Given the description of an element on the screen output the (x, y) to click on. 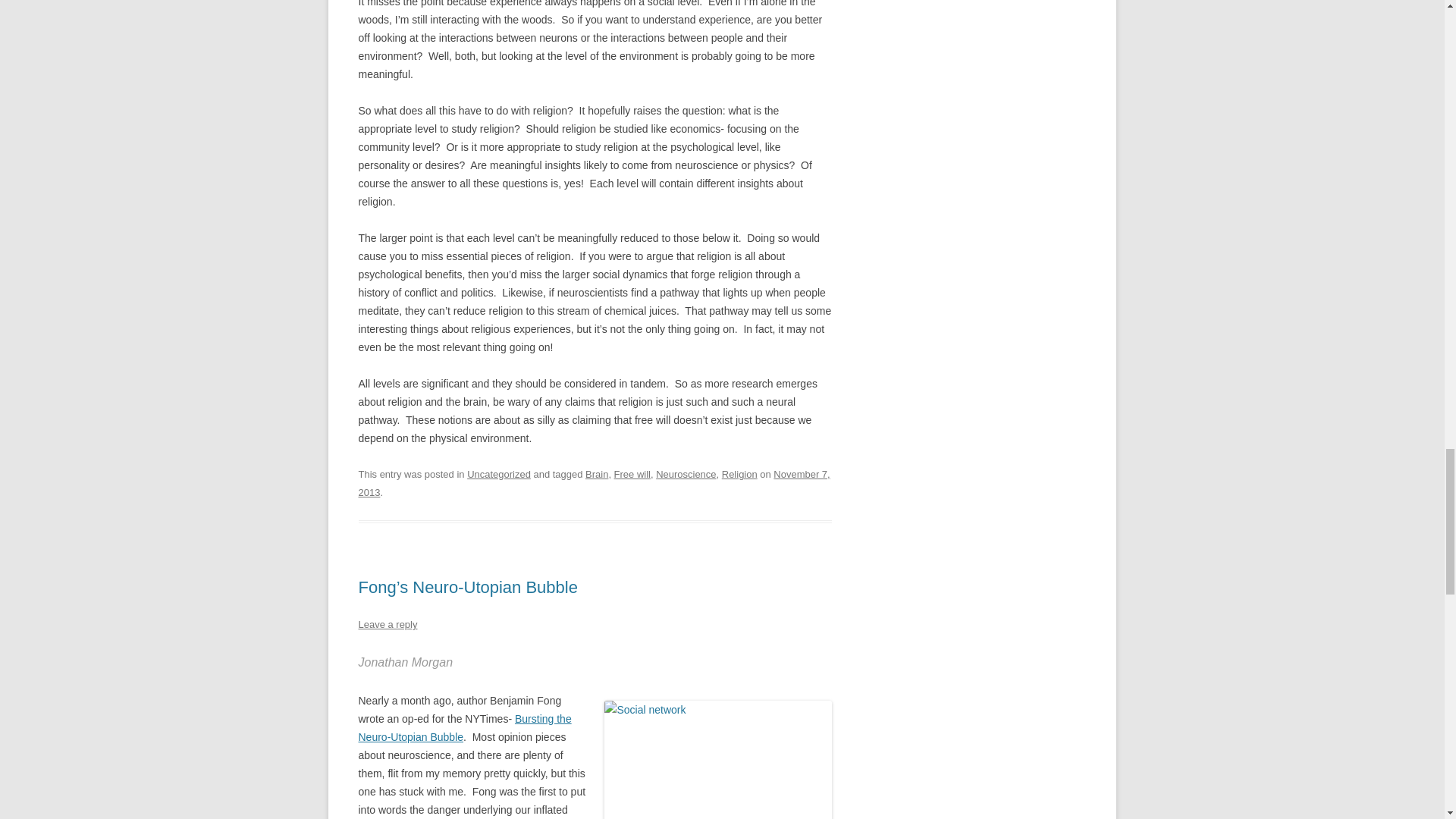
2:27 pm (593, 482)
Bursting the bubble (464, 727)
